Given the description of an element on the screen output the (x, y) to click on. 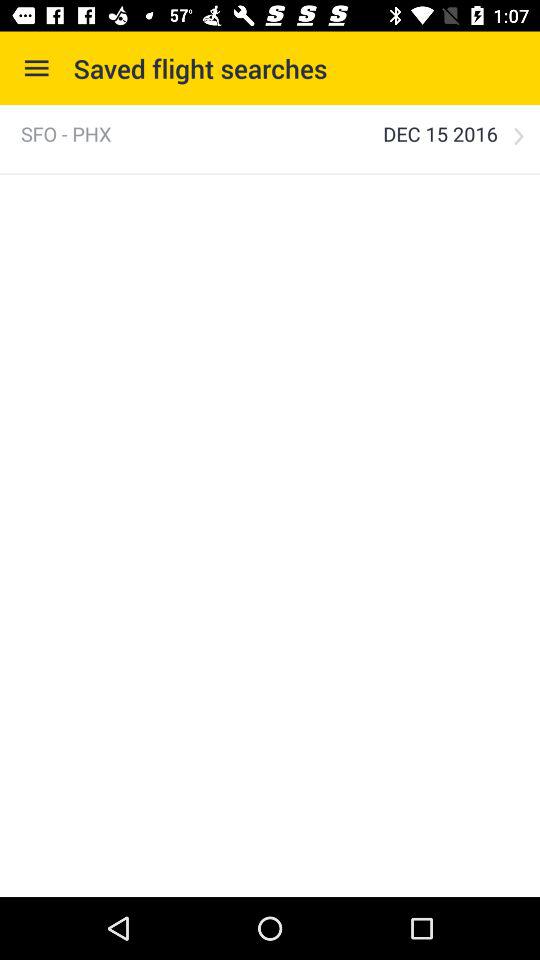
turn off the item to the left of the saved flight searches (36, 68)
